Given the description of an element on the screen output the (x, y) to click on. 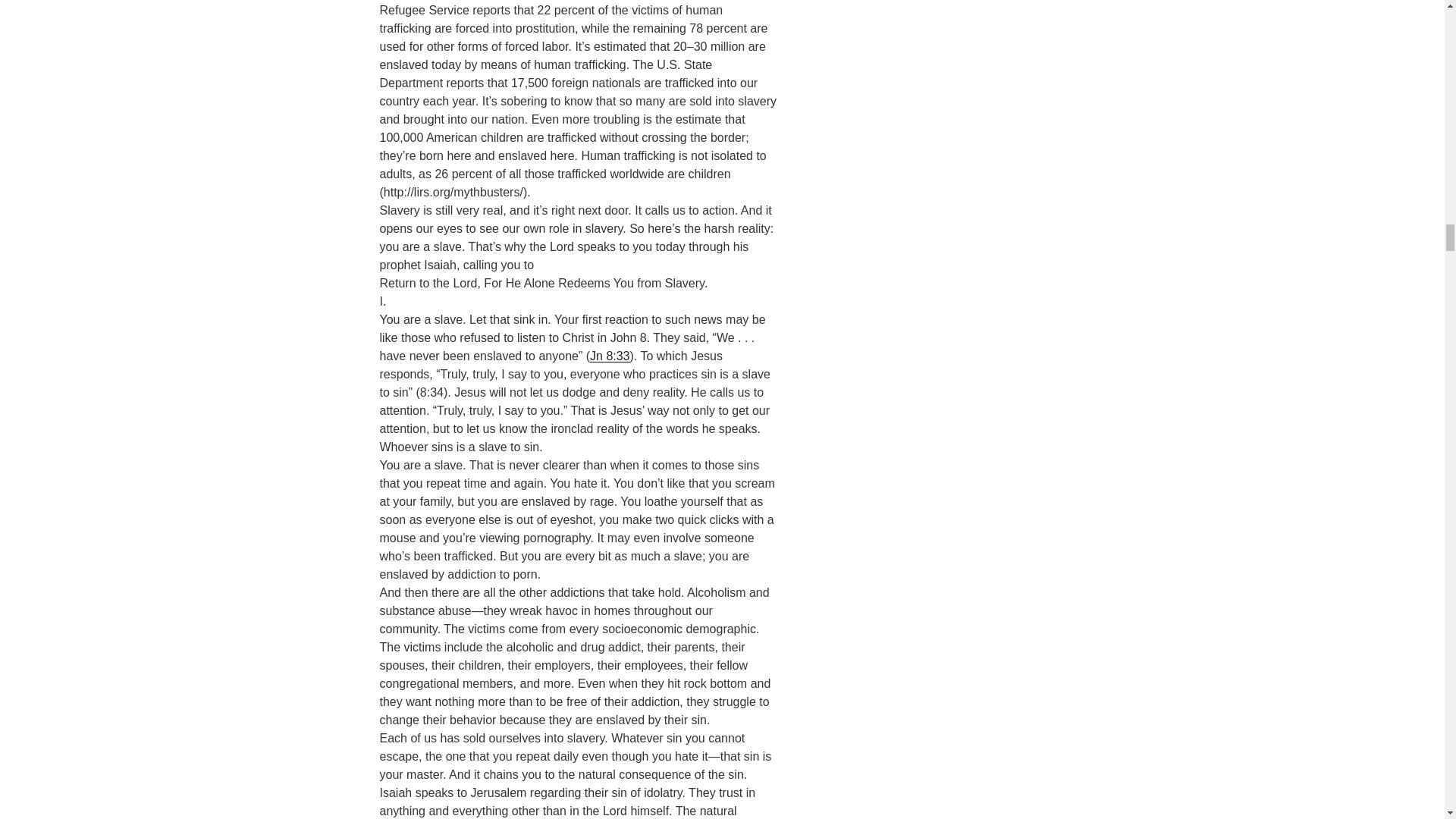
Jn 8:33 (608, 355)
